Given the description of an element on the screen output the (x, y) to click on. 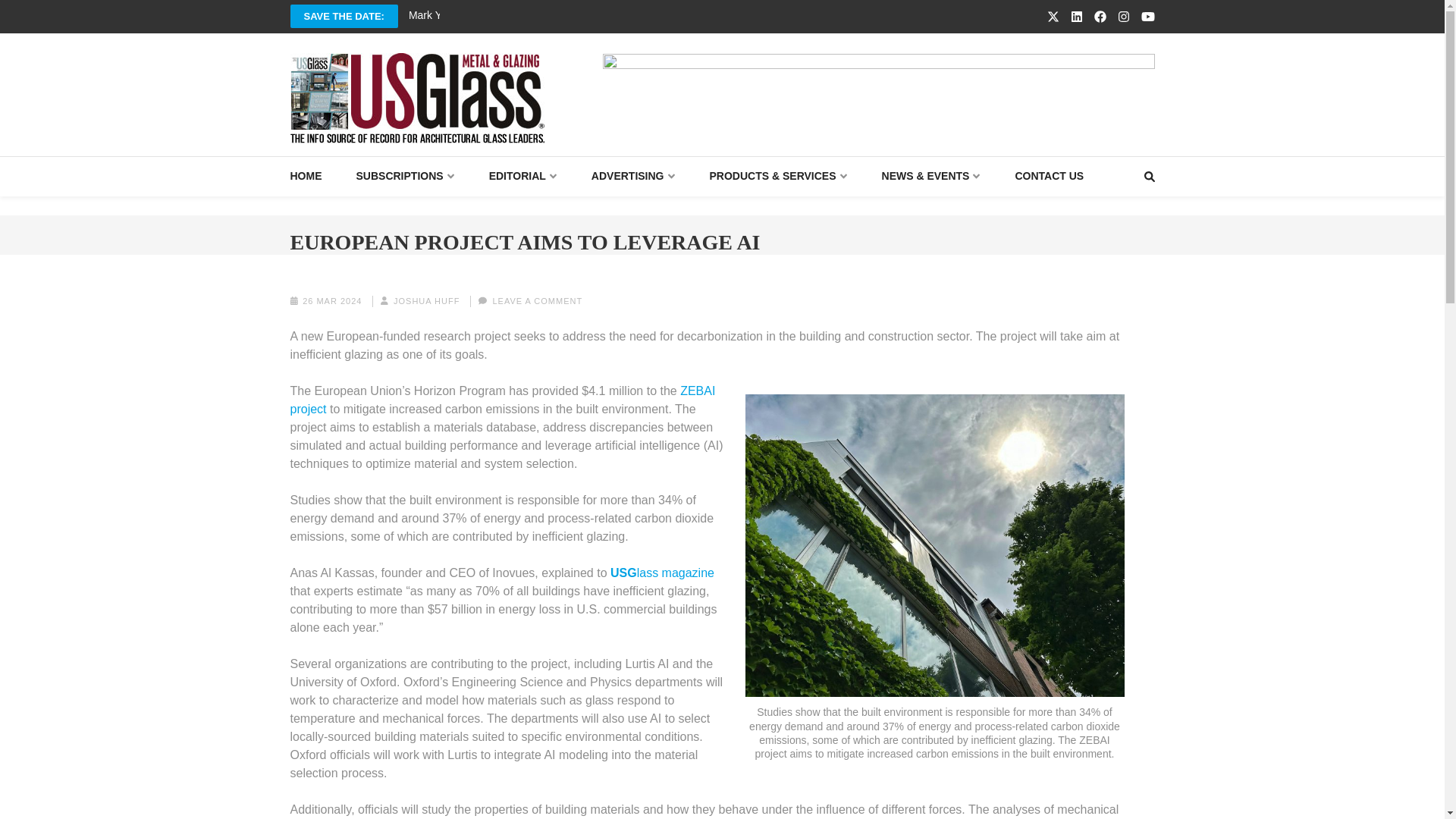
CONTACT US (1048, 176)
SAVE THE DATE: (343, 15)
EDITORIAL (523, 176)
SUBSCRIPTIONS (405, 176)
ADVERTISING (633, 176)
